Given the description of an element on the screen output the (x, y) to click on. 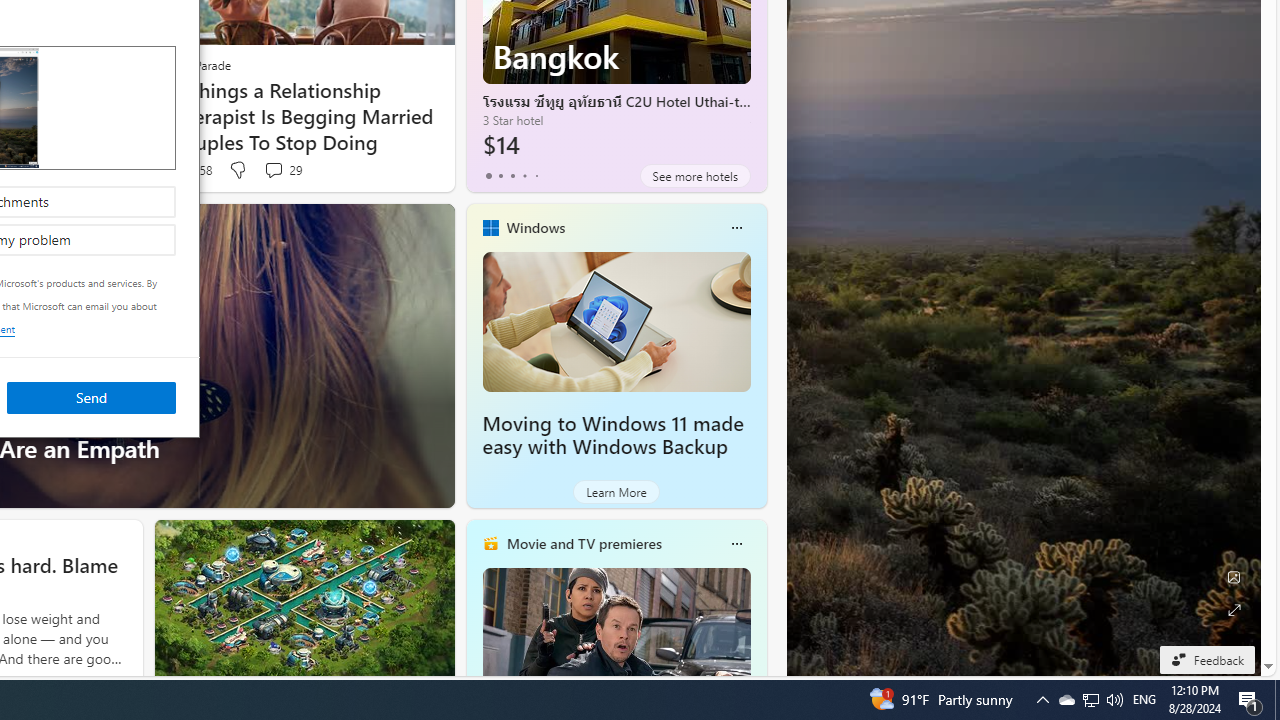
Notification Chevron (1042, 699)
tab-4 (535, 175)
Movie and TV premieres (583, 543)
Q2790: 100% (1066, 699)
Learn More (1114, 699)
Action Center, 1 new notification (616, 491)
Show desktop (1250, 699)
tab-2 (1277, 699)
View comments 29 Comment (511, 175)
